Given the description of an element on the screen output the (x, y) to click on. 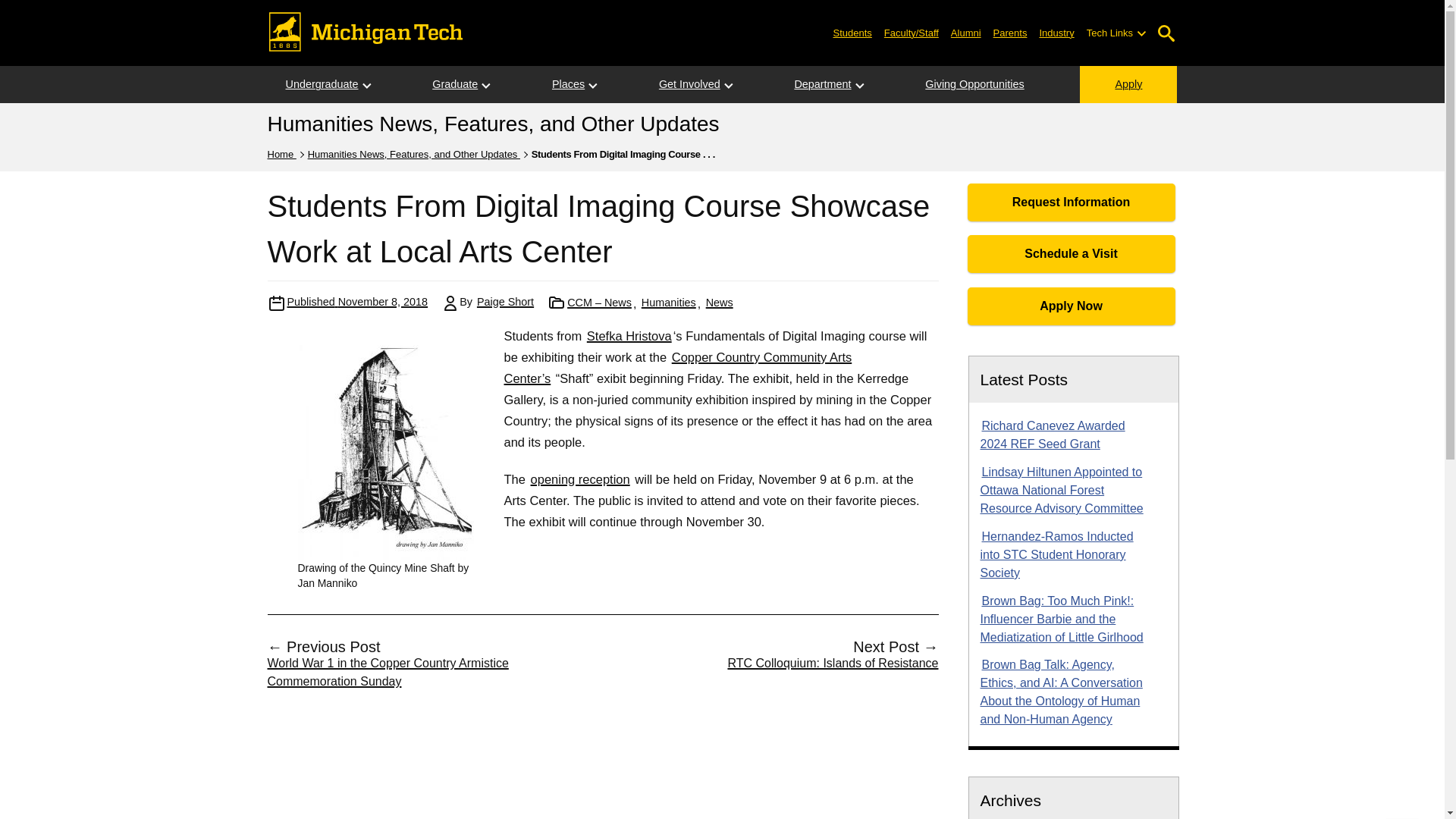
Parents (1010, 32)
Graduate (454, 84)
Industry (1056, 32)
Alumni (965, 32)
Students (852, 32)
Open Search (1166, 33)
Undergraduate (320, 84)
